Given the description of an element on the screen output the (x, y) to click on. 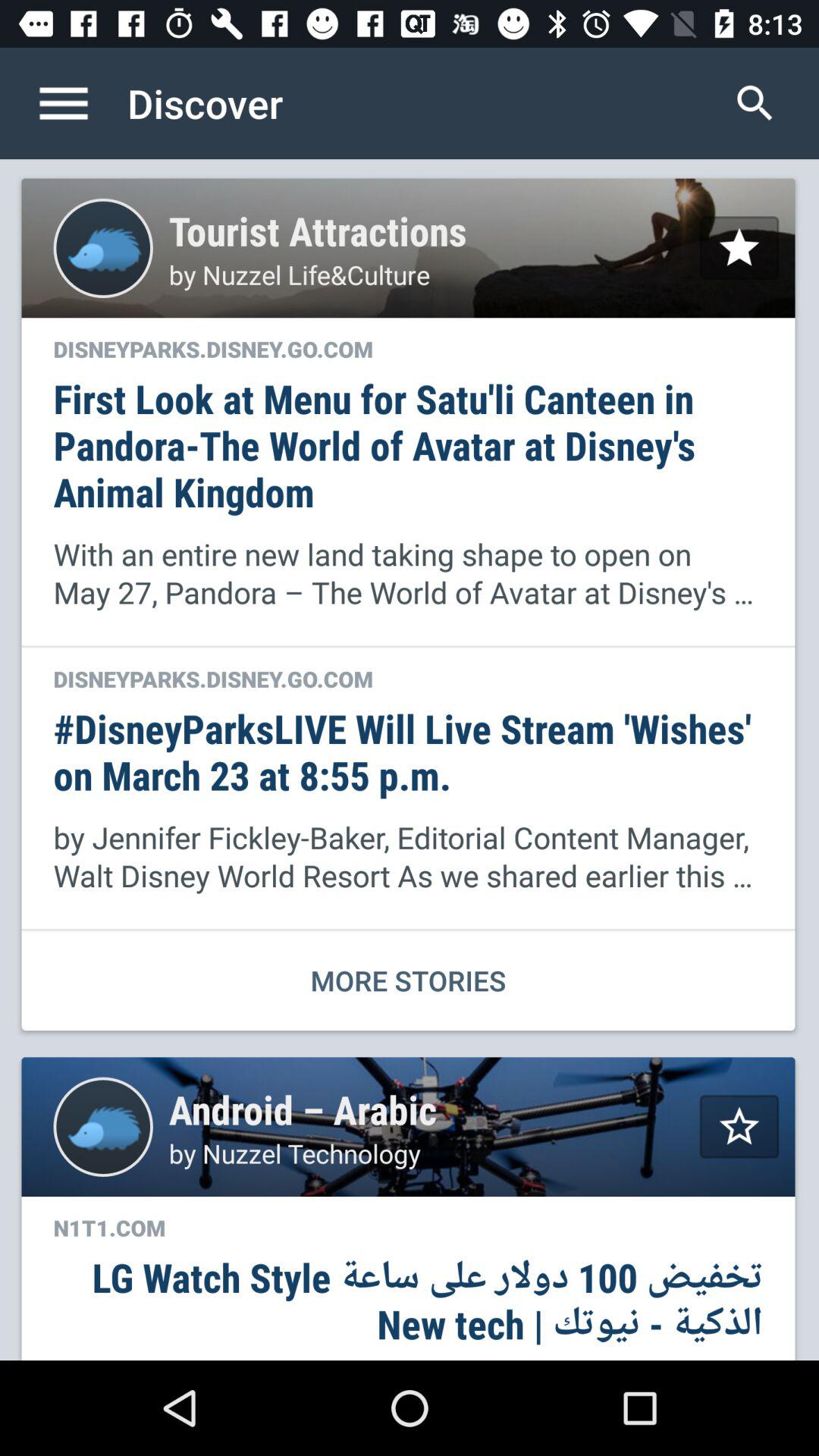
open icon next to the discover (79, 103)
